Given the description of an element on the screen output the (x, y) to click on. 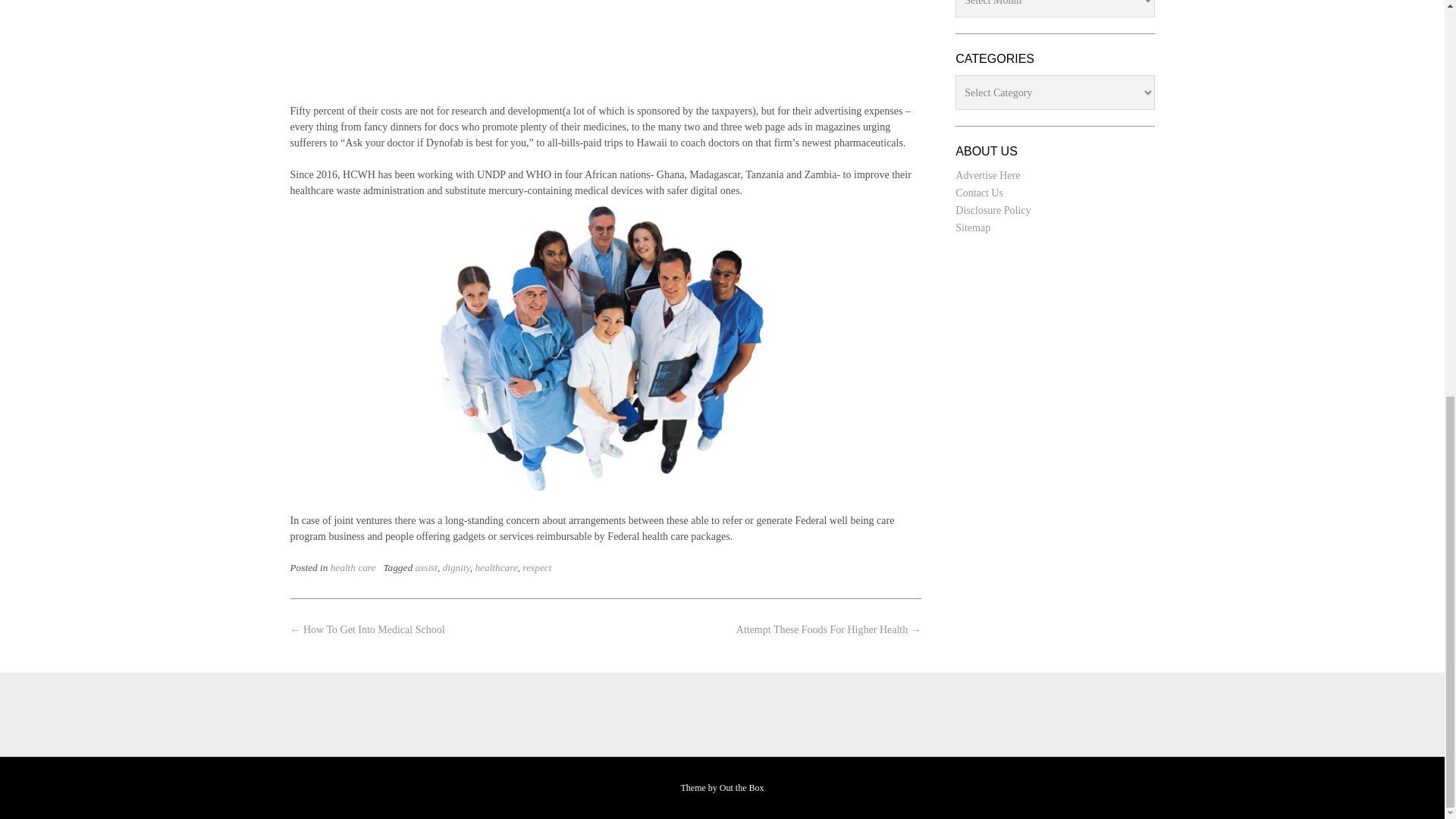
healthcare (495, 567)
dignity (456, 567)
health care (352, 567)
respect (536, 567)
assist (426, 567)
